Given the description of an element on the screen output the (x, y) to click on. 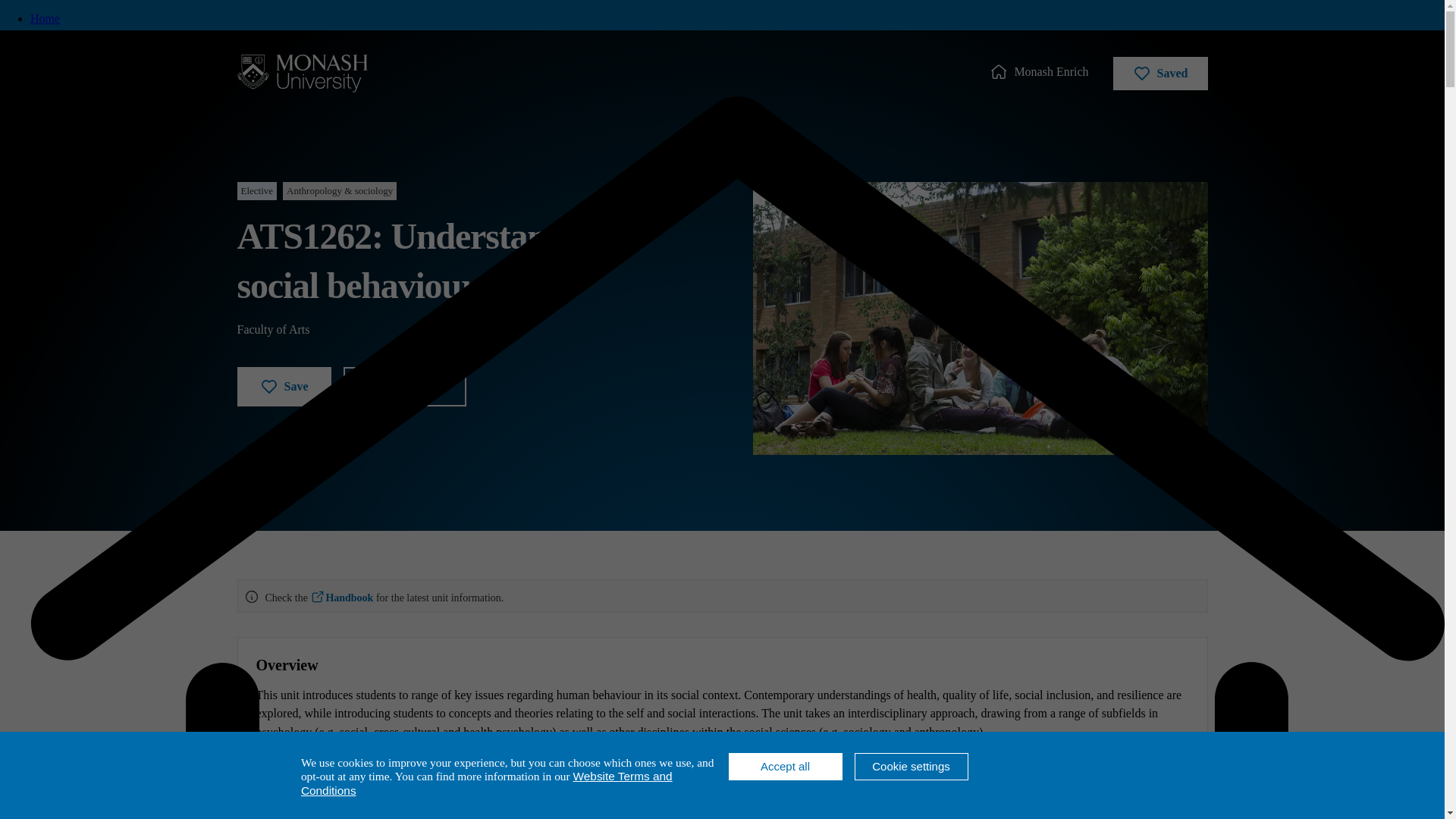
Monash Enrich (1038, 72)
Save (282, 386)
Cookie settings (910, 766)
Handbook (341, 597)
Saved (1160, 73)
Accept all (784, 766)
Website Terms and Conditions (486, 782)
Share link (403, 386)
